Given the description of an element on the screen output the (x, y) to click on. 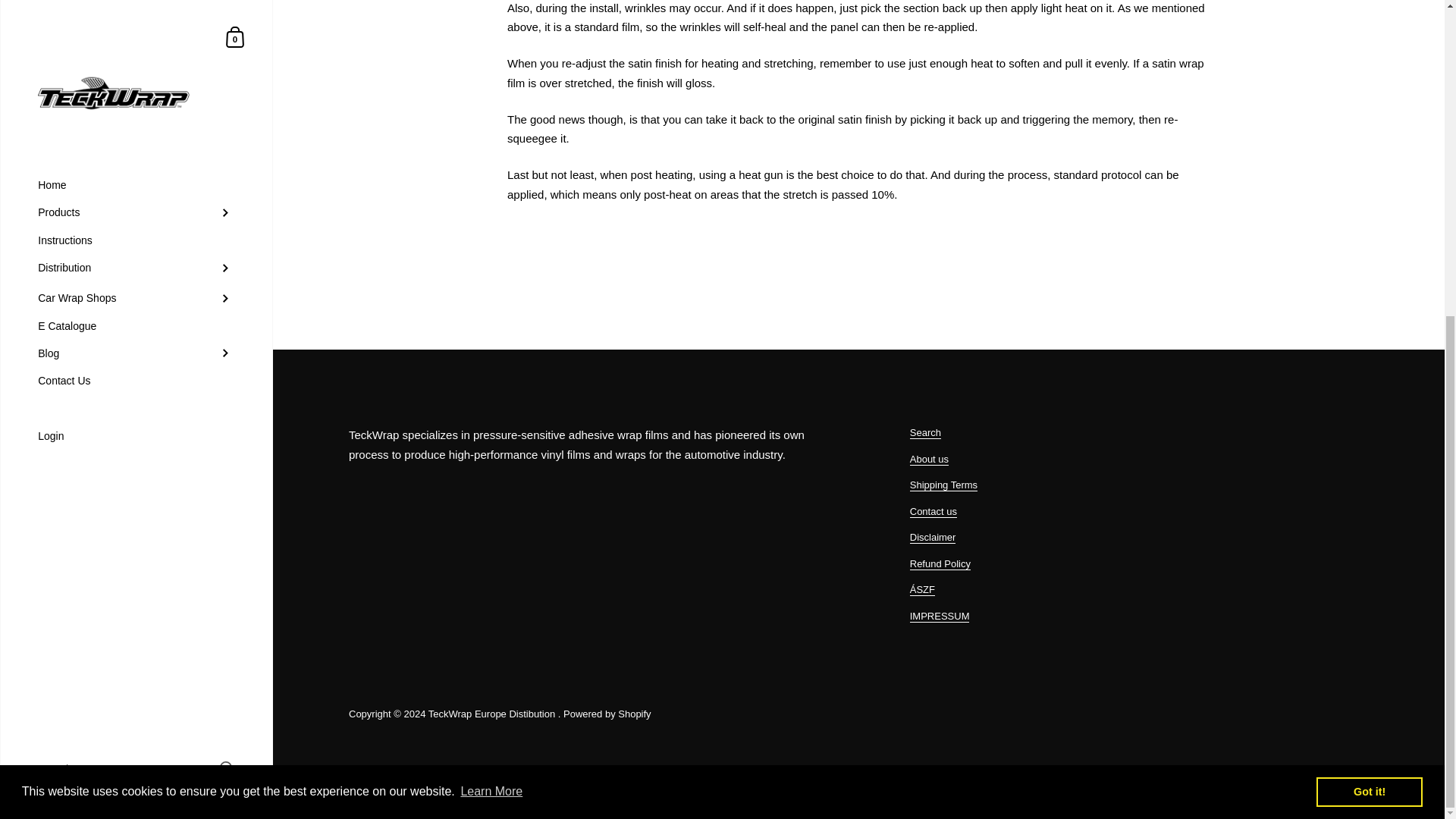
Got it! (1369, 283)
Learn More (491, 282)
